Given the description of an element on the screen output the (x, y) to click on. 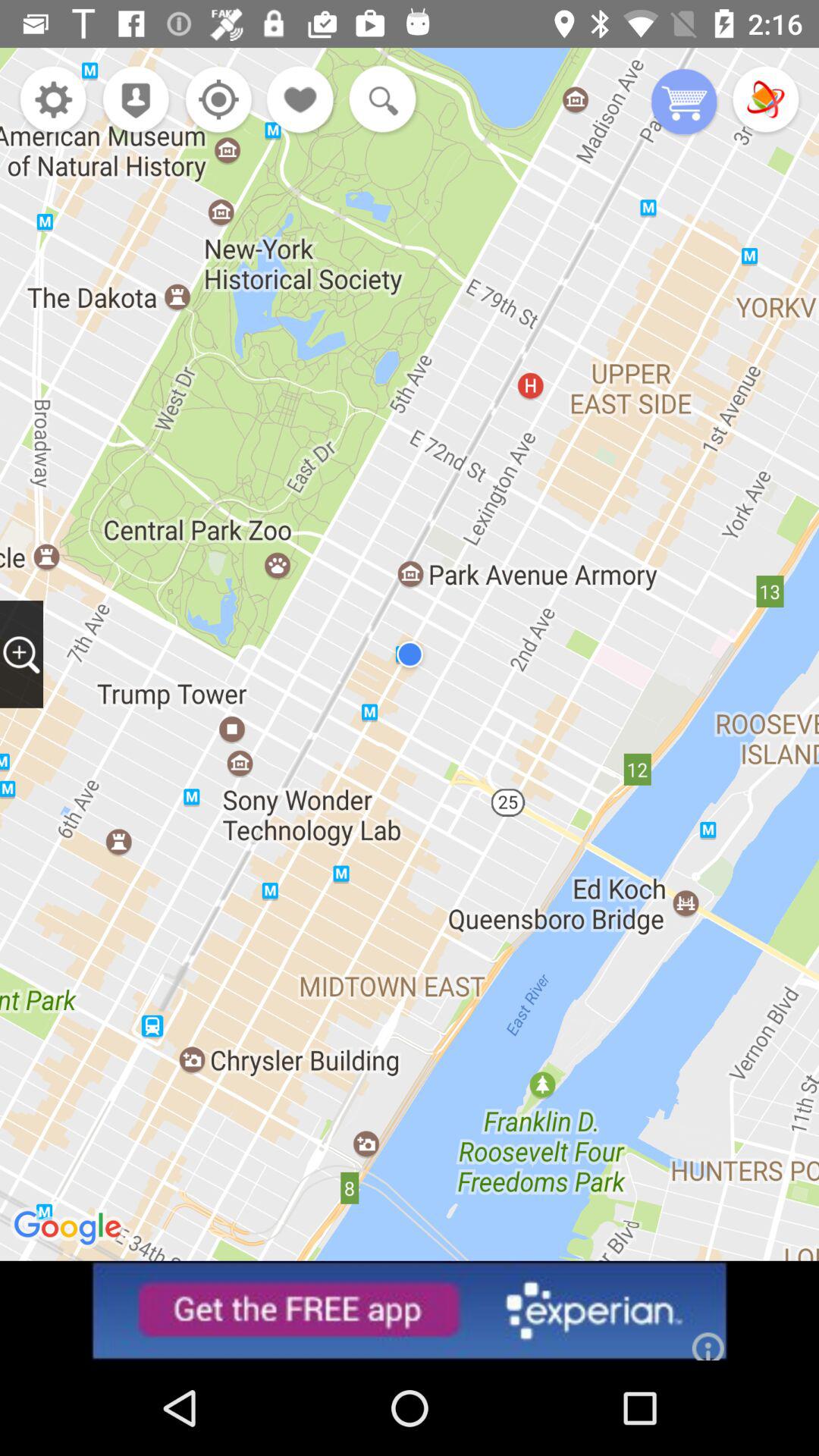
zoom (21, 654)
